Given the description of an element on the screen output the (x, y) to click on. 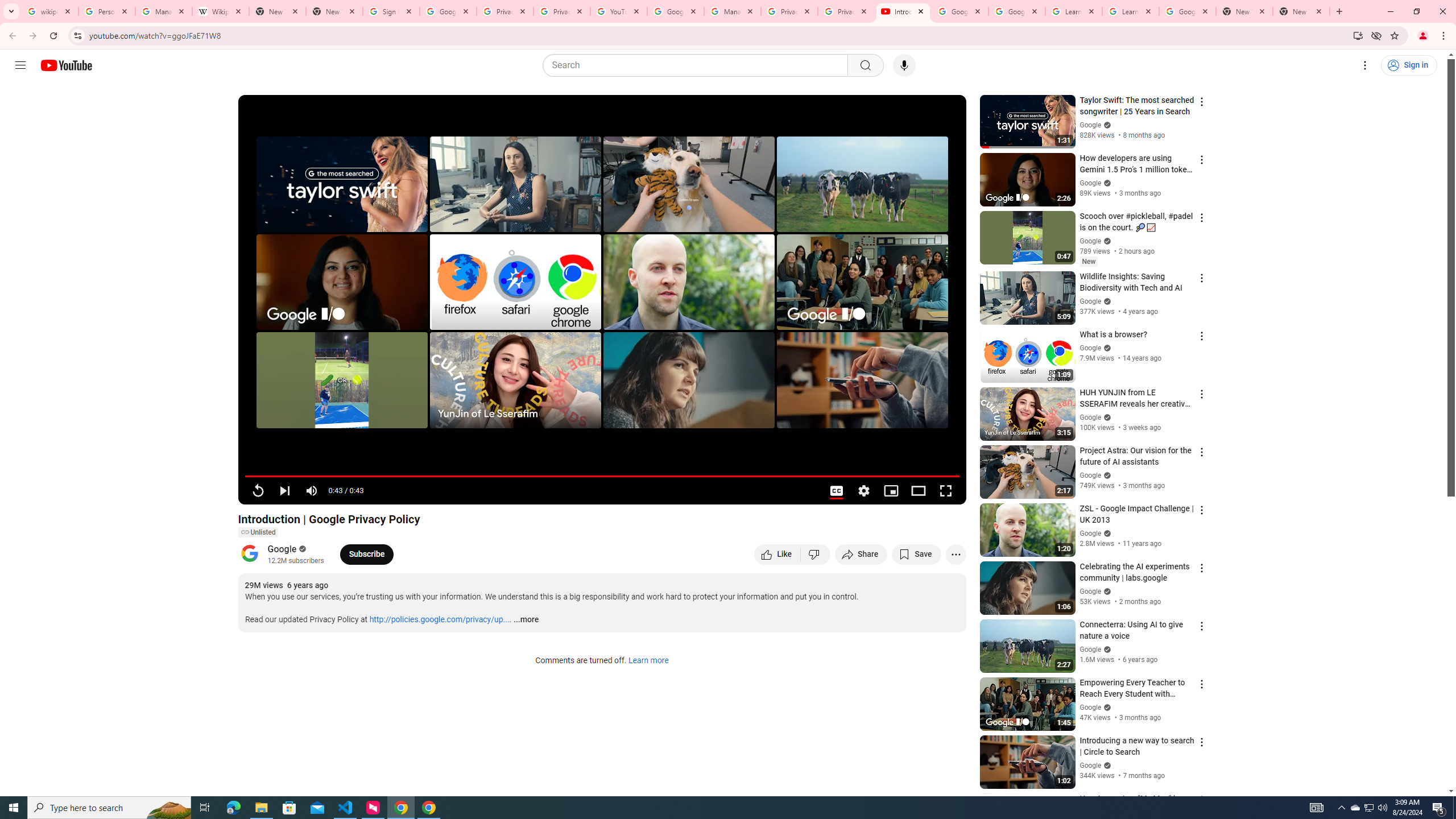
More actions (955, 554)
Install YouTube (1358, 35)
Subtitles/closed captions unavailable (836, 490)
